Given the description of an element on the screen output the (x, y) to click on. 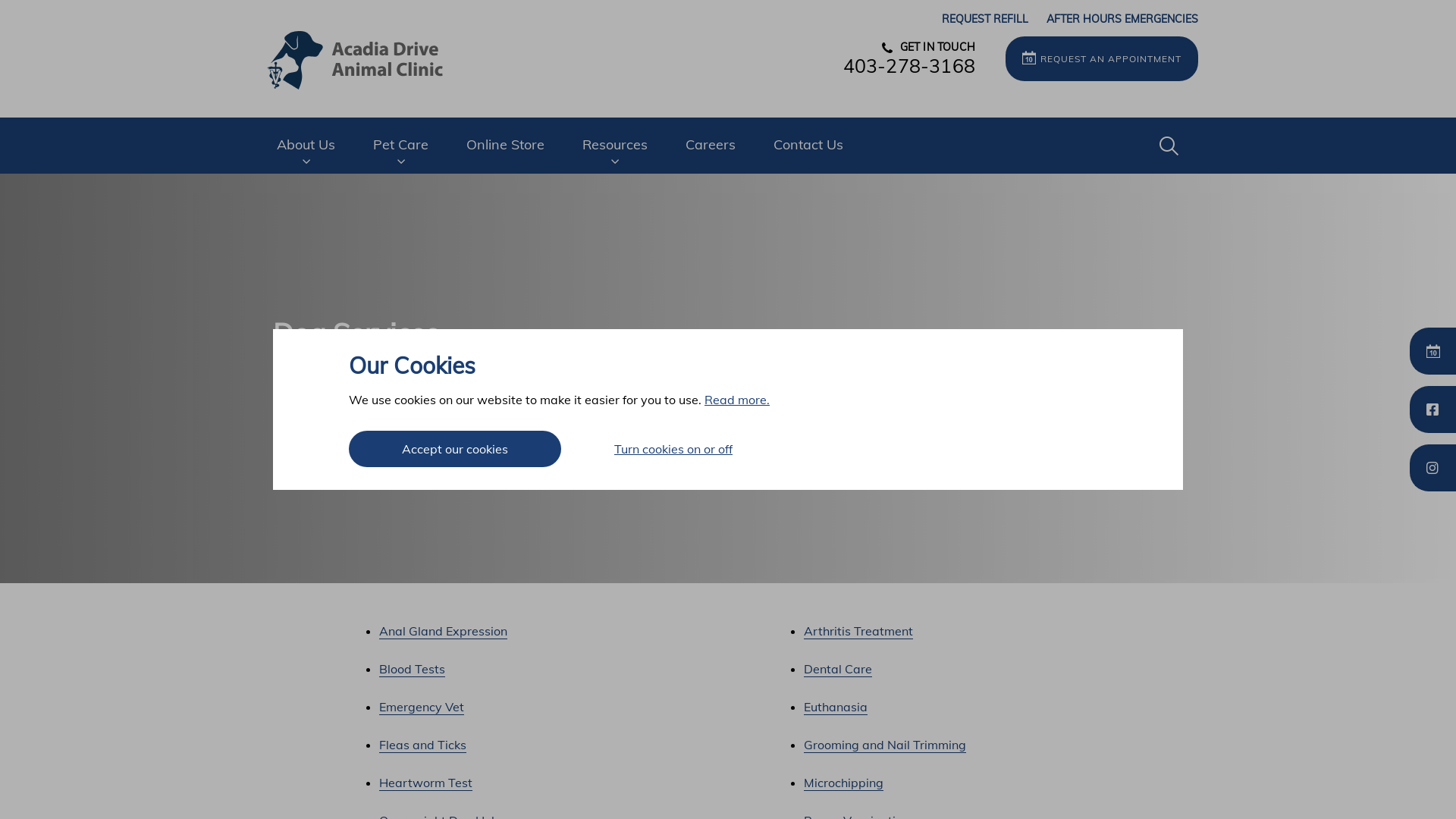
REQUEST AN APPOINTMENT Element type: text (1101, 58)
Euthanasia Element type: text (835, 707)
Dental Care Element type: text (837, 669)
Online Store Element type: text (505, 144)
Contact Us Element type: text (808, 144)
Grooming and Nail Trimming Element type: text (884, 745)
IvcPractices.HeaderNav.Search.Toggle.Button.Aria Element type: text (1168, 145)
Arthritis Treatment Element type: text (858, 631)
Accept our cookies Element type: text (454, 448)
Fleas and Ticks Element type: text (422, 745)
Acadia Drive Animal Clinic's homepage Element type: text (356, 58)
AFTER HOURS EMERGENCIES Element type: text (1122, 18)
Resources Element type: text (614, 145)
Pet Care Element type: text (400, 145)
Turn cookies on or off Element type: text (673, 448)
Careers Element type: text (710, 144)
Anal Gland Expression Element type: text (443, 631)
Emergency Vet Element type: text (421, 707)
Microchipping Element type: text (843, 782)
About Us Element type: text (305, 145)
Blood Tests Element type: text (412, 669)
REQUEST REFILL Element type: text (984, 18)
Read more. Element type: text (736, 399)
Heartworm Test Element type: text (425, 782)
